Given the description of an element on the screen output the (x, y) to click on. 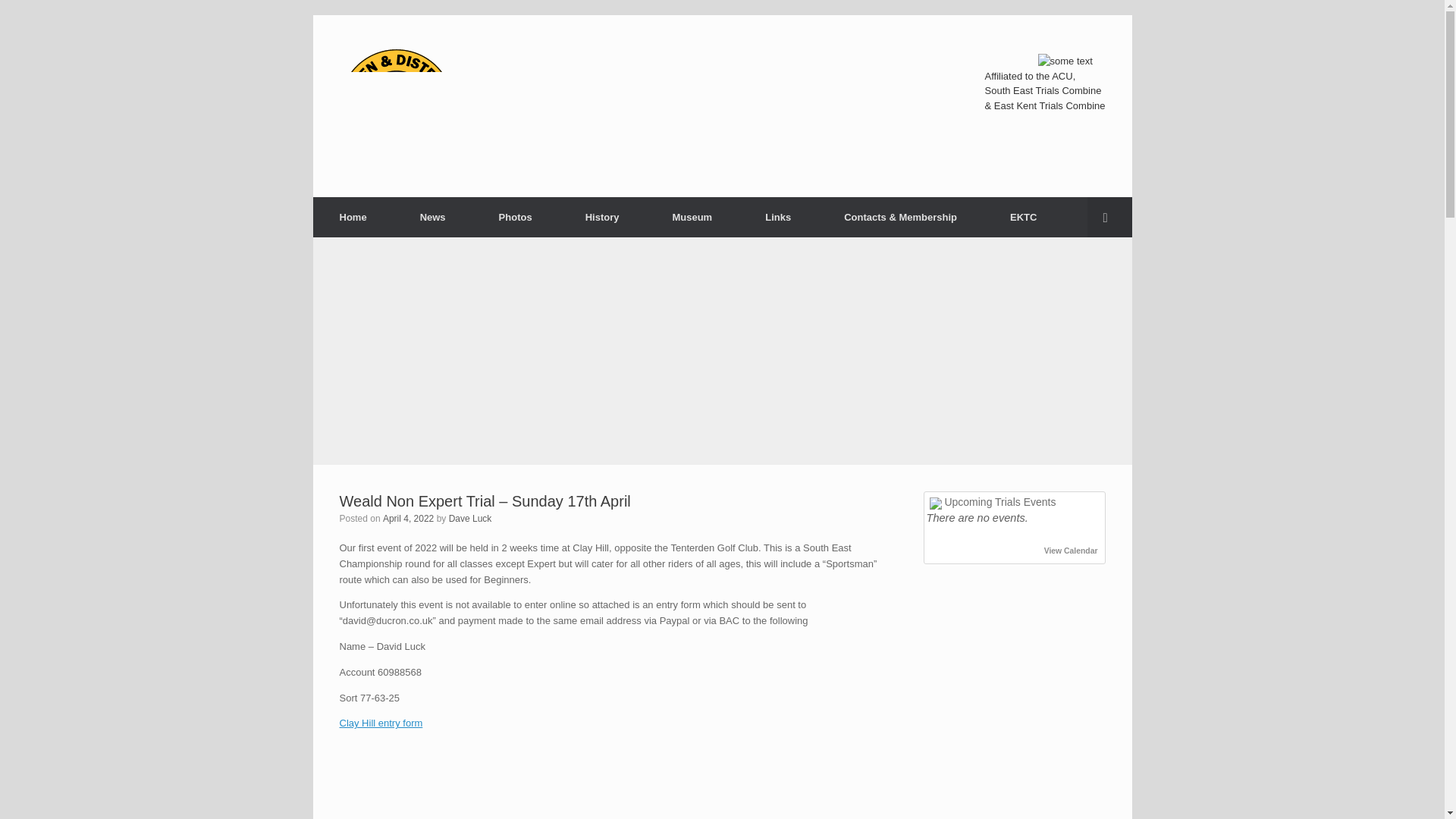
Museum (691, 217)
Links (777, 217)
EKTC (1023, 217)
Home (353, 217)
April 4, 2022 (407, 518)
News (432, 217)
Dave Luck (470, 518)
History (602, 217)
Photos (515, 217)
